Given the description of an element on the screen output the (x, y) to click on. 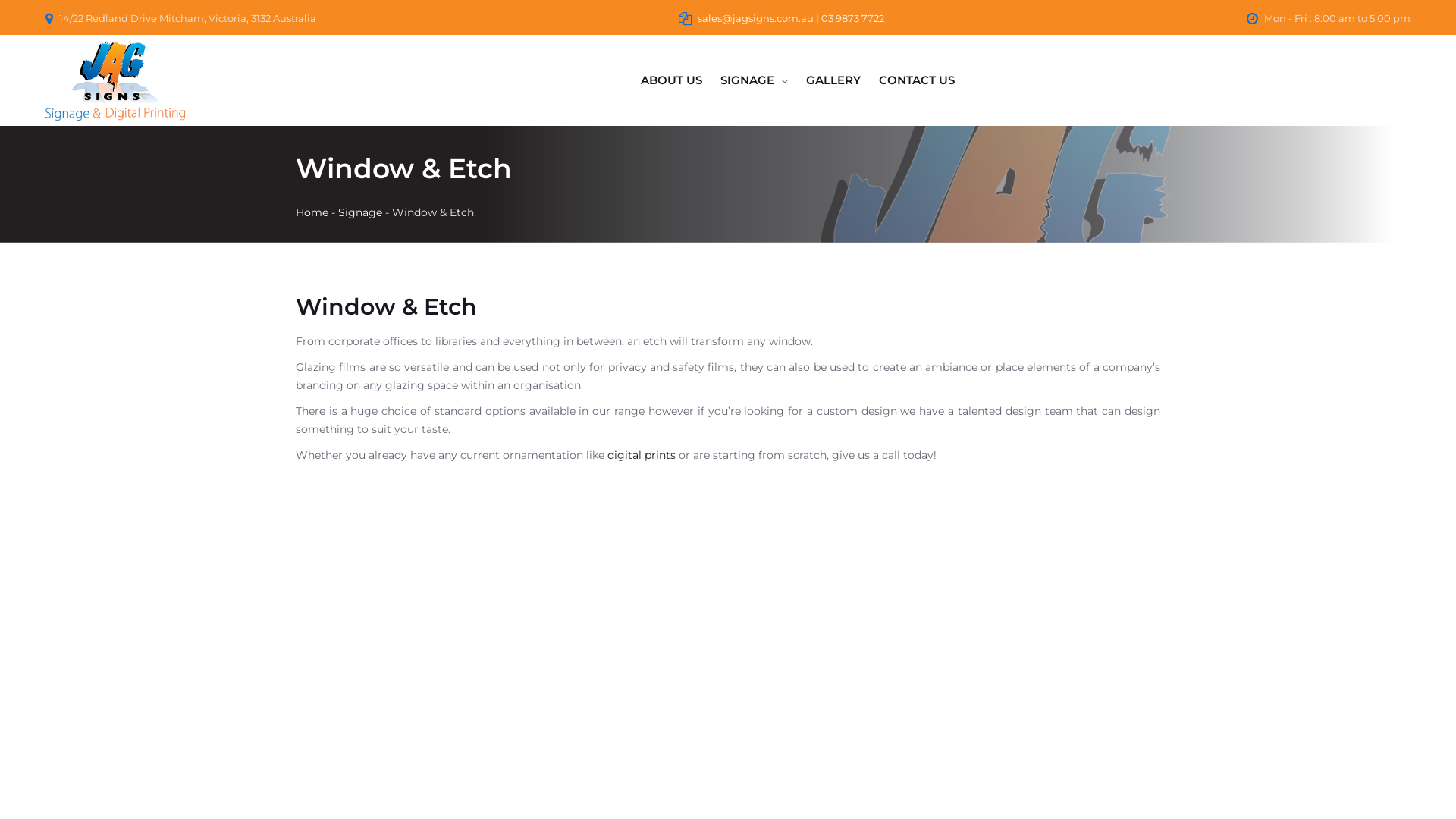
CONTACT US Element type: text (916, 80)
Signage Element type: text (360, 212)
blue boat design shop front signs Element type: hover (727, 622)
Home Element type: text (311, 212)
digital prints Element type: text (641, 454)
ABOUT US Element type: text (671, 80)
03 9873 7722 Element type: text (852, 18)
sskb shop front signs Element type: hover (431, 622)
building signage window etching retire invest Element type: hover (1023, 622)
sales@jagsigns.com.au Element type: text (755, 18)
SIGNAGE Element type: text (747, 80)
GALLERY Element type: text (833, 80)
